Given the description of an element on the screen output the (x, y) to click on. 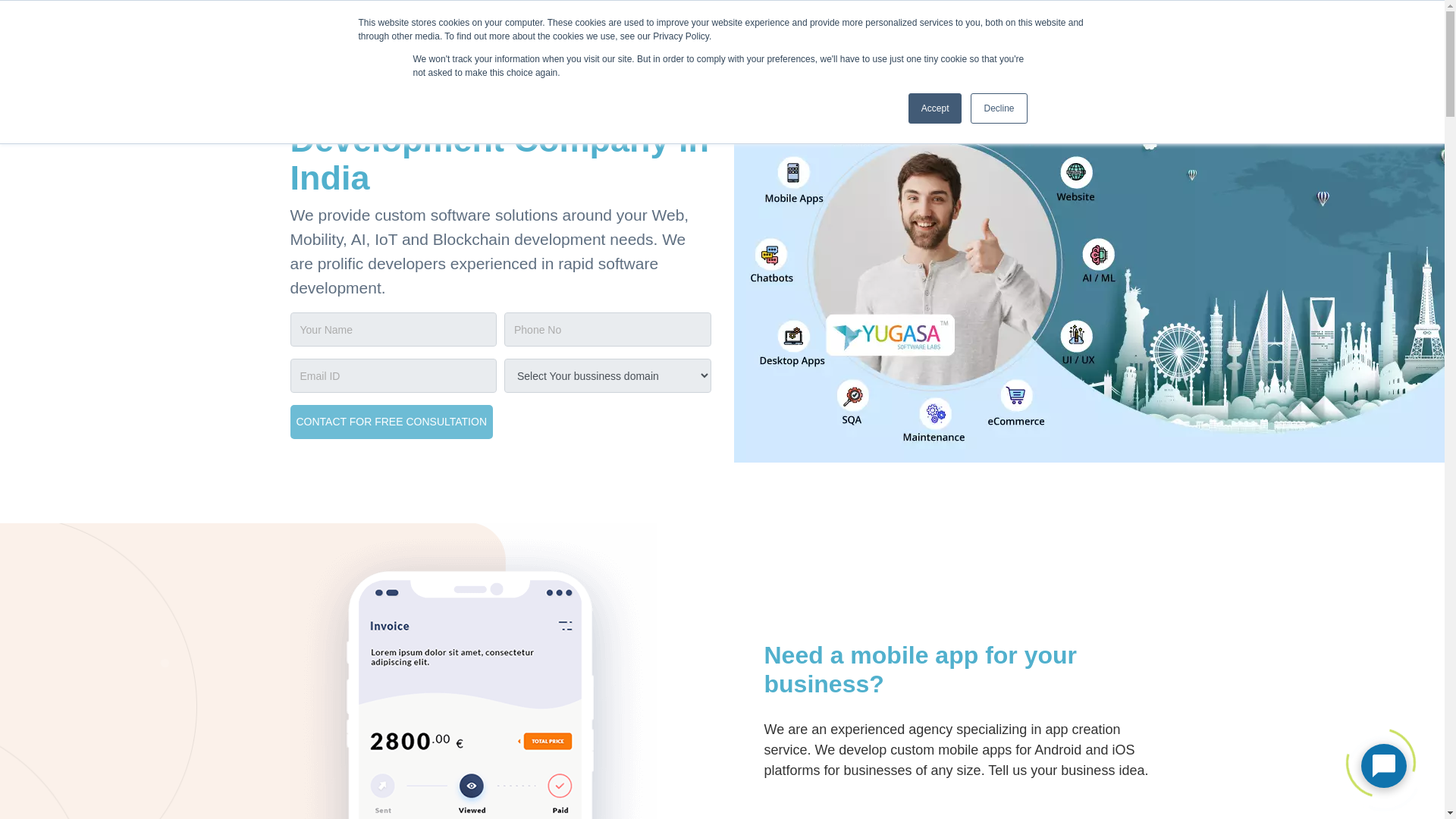
Technologies (801, 29)
Work With Us (994, 29)
Decline (998, 108)
Accept (935, 108)
Contact (1132, 29)
Blog (1072, 29)
CONTACT FOR FREE CONSULTATION (391, 421)
Wall Of Fame (893, 29)
